Given the description of an element on the screen output the (x, y) to click on. 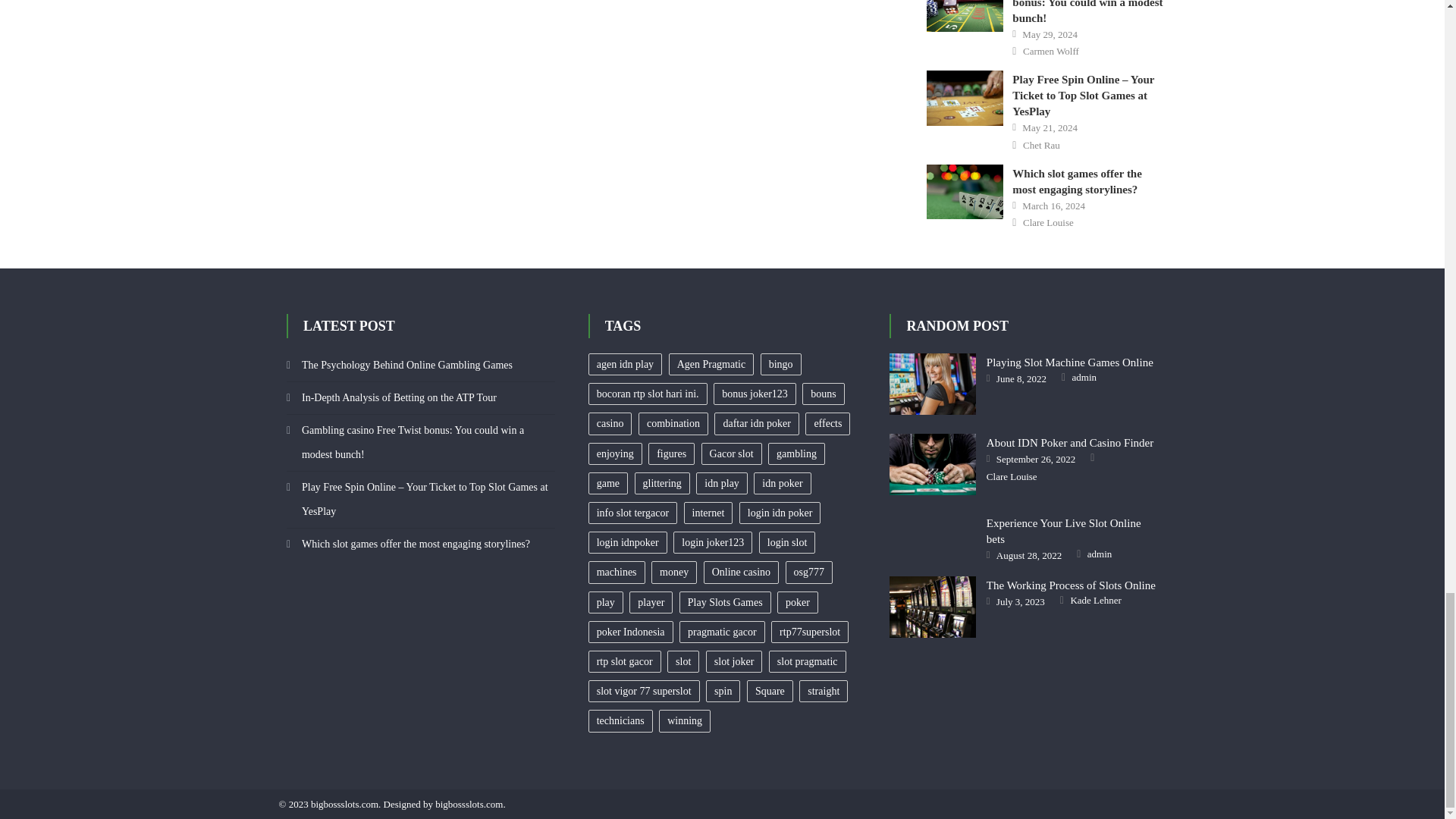
Which slot games offer the most engaging storylines? (964, 191)
The Working Process of Slots Online (932, 607)
Playing Slot Machine Games Online (932, 383)
About IDN Poker and Casino Finder (932, 464)
